Given the description of an element on the screen output the (x, y) to click on. 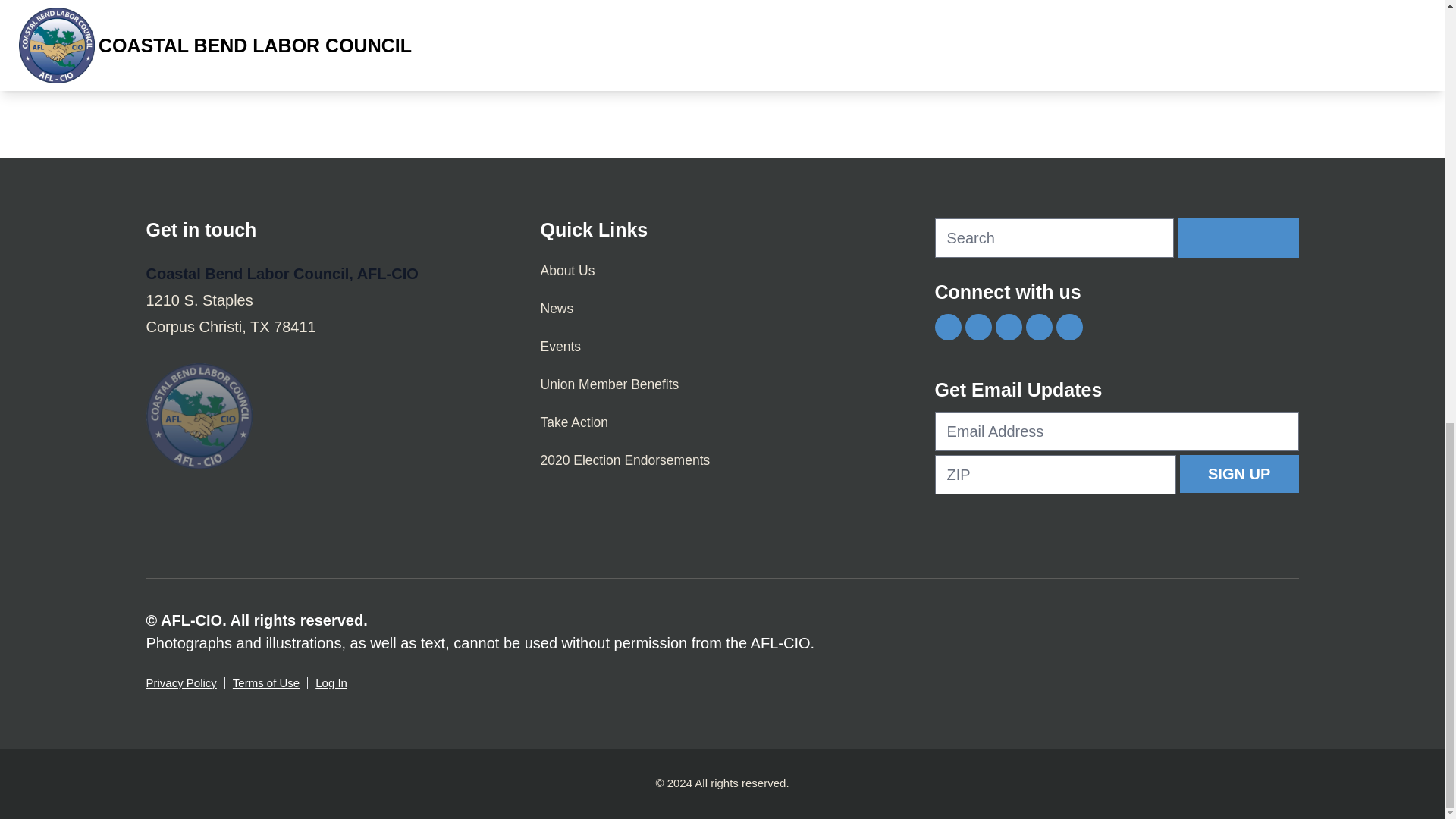
Privacy Policy (180, 681)
Read the full article. (520, 83)
News (722, 308)
Youtube (1038, 326)
Instagram (1008, 326)
Take Action (722, 422)
Facebook (947, 326)
About Us (722, 270)
Events (722, 346)
Twitter (977, 326)
